Given the description of an element on the screen output the (x, y) to click on. 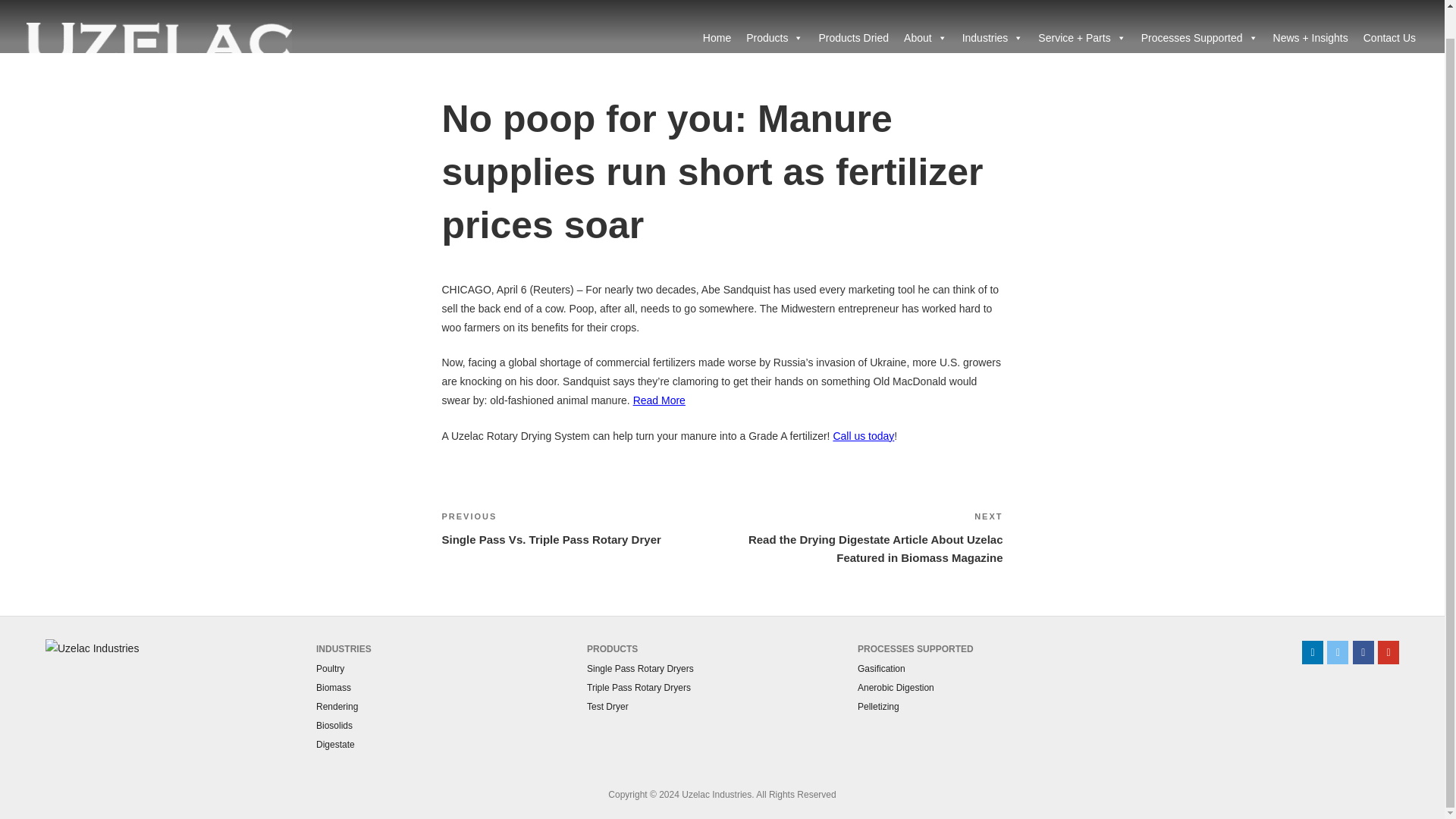
Uzelac Industries, Inc. on Youtube (1388, 652)
Industries (992, 12)
Uzelac Industries, Inc. on Facebook (1363, 652)
Products (774, 12)
Home (716, 12)
Uzelac Industries, Inc. on Linkedin (1312, 652)
Uzelac Industries, Inc. (89, 63)
About (925, 12)
Uzelac Industries, Inc. on X Twitter (1337, 652)
Processes Supported (1199, 12)
